Given the description of an element on the screen output the (x, y) to click on. 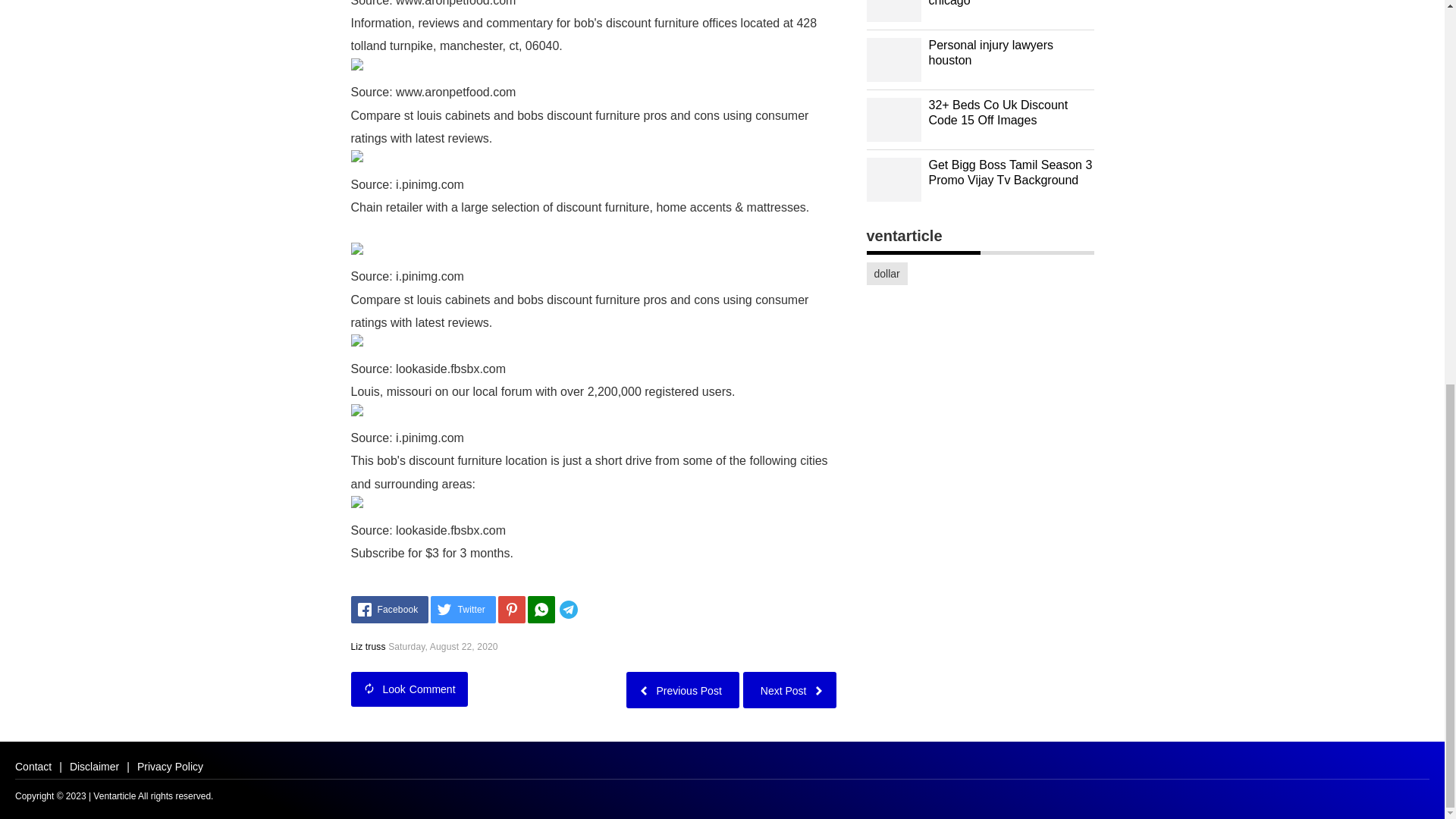
Next Post (788, 689)
author profile (367, 646)
Older Post (682, 689)
Previous Post (682, 689)
Twitter (462, 609)
Share on Pinterest (511, 609)
Facebook (389, 609)
auto accident lawyers in chicago (993, 3)
Telegram (590, 609)
Newer Post (788, 689)
Share to Telegram (590, 609)
Liz truss (367, 646)
